Given the description of an element on the screen output the (x, y) to click on. 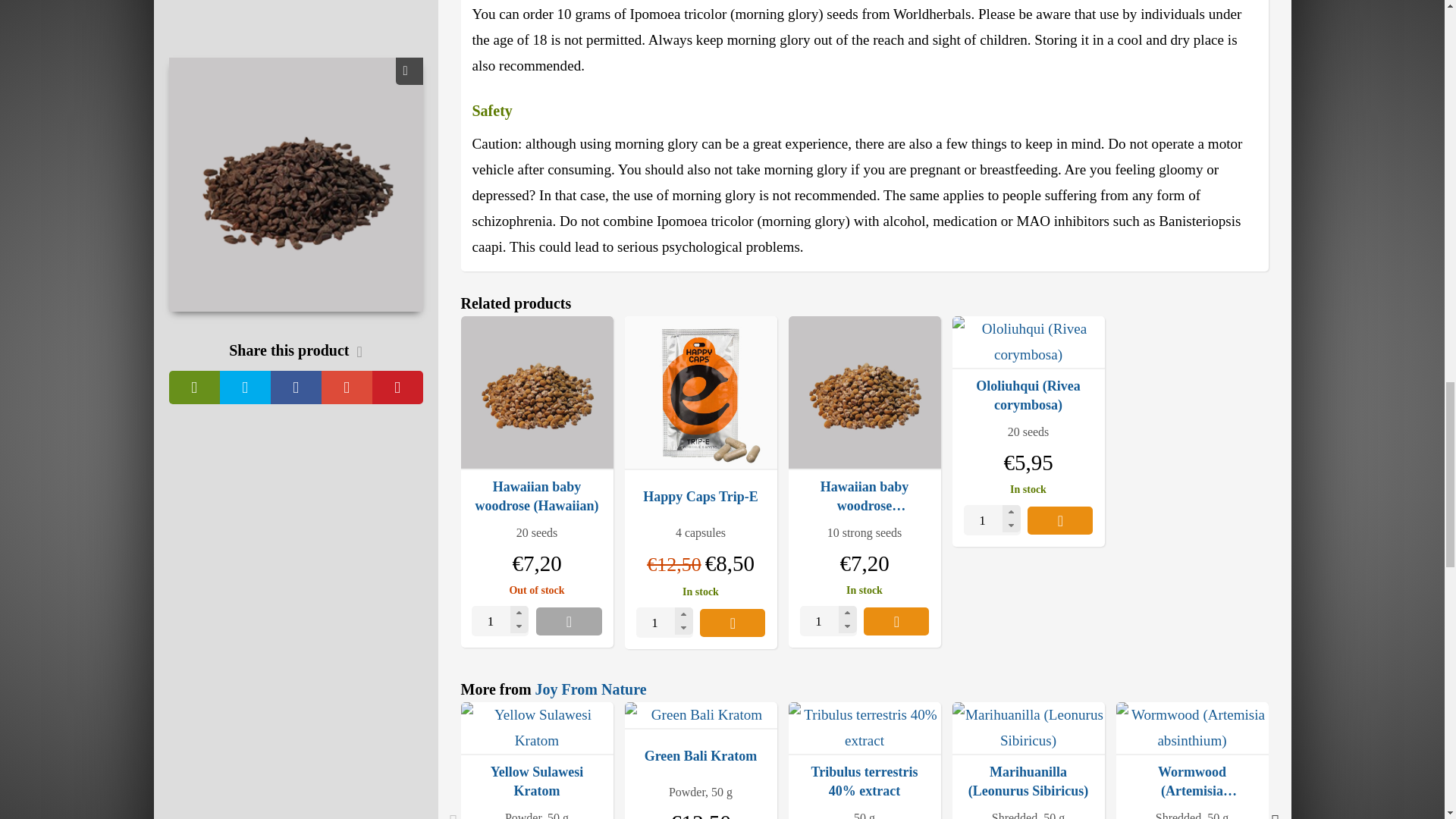
1 (499, 621)
1 (991, 520)
Happy Caps Trip-E (700, 393)
1 (828, 621)
1 (664, 622)
